Given the description of an element on the screen output the (x, y) to click on. 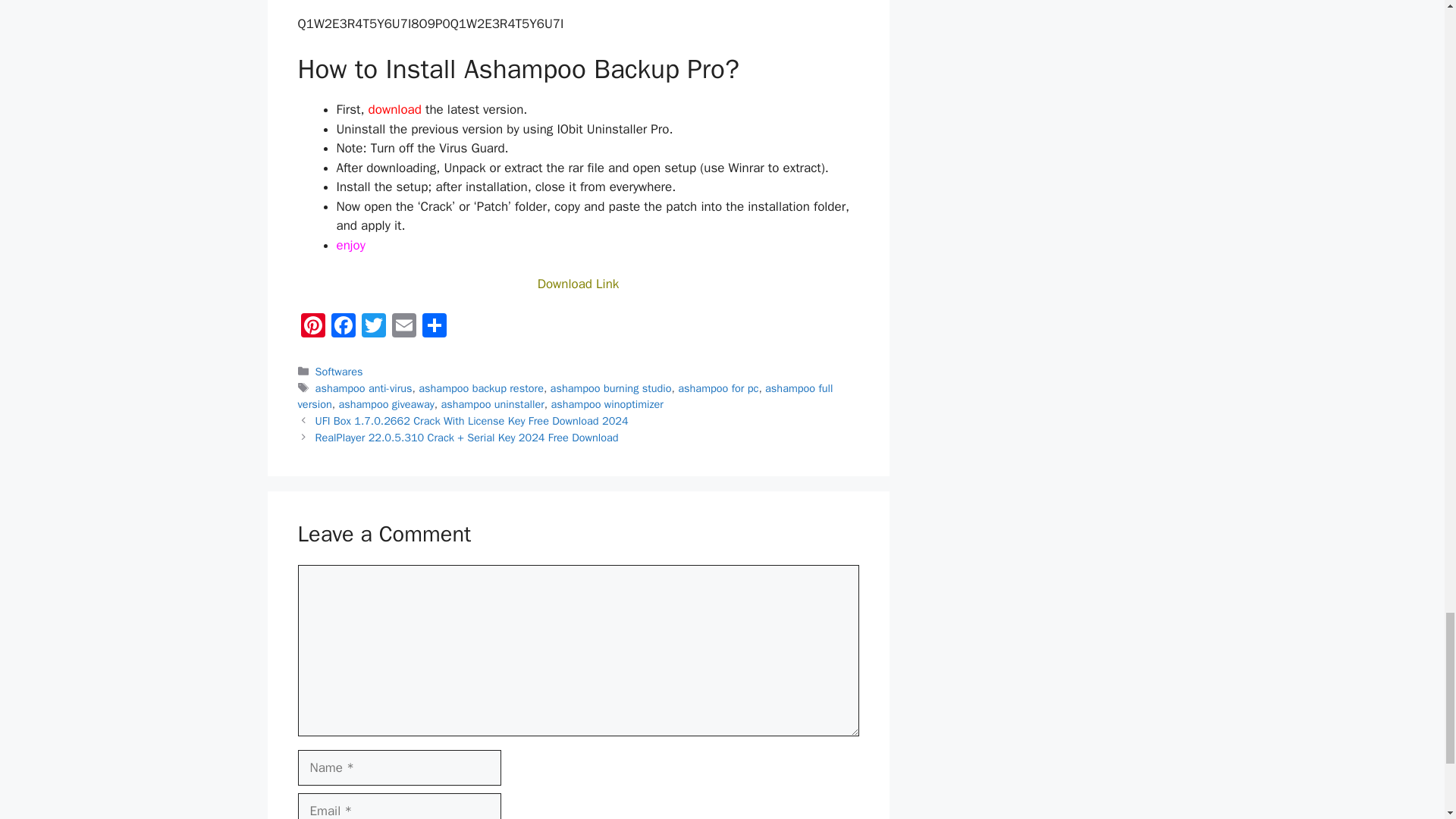
Share (433, 327)
ashampoo anti-virus (363, 387)
ashampoo backup restore (481, 387)
ashampoo full version (564, 396)
Softwares (338, 371)
Email (403, 327)
Twitter (373, 327)
Pinterest (312, 327)
enjoy (350, 245)
download (396, 109)
ashampoo burning studio (610, 387)
Facebook (342, 327)
ashampoo for pc (718, 387)
Download Link (578, 283)
ashampoo giveaway (385, 404)
